Given the description of an element on the screen output the (x, y) to click on. 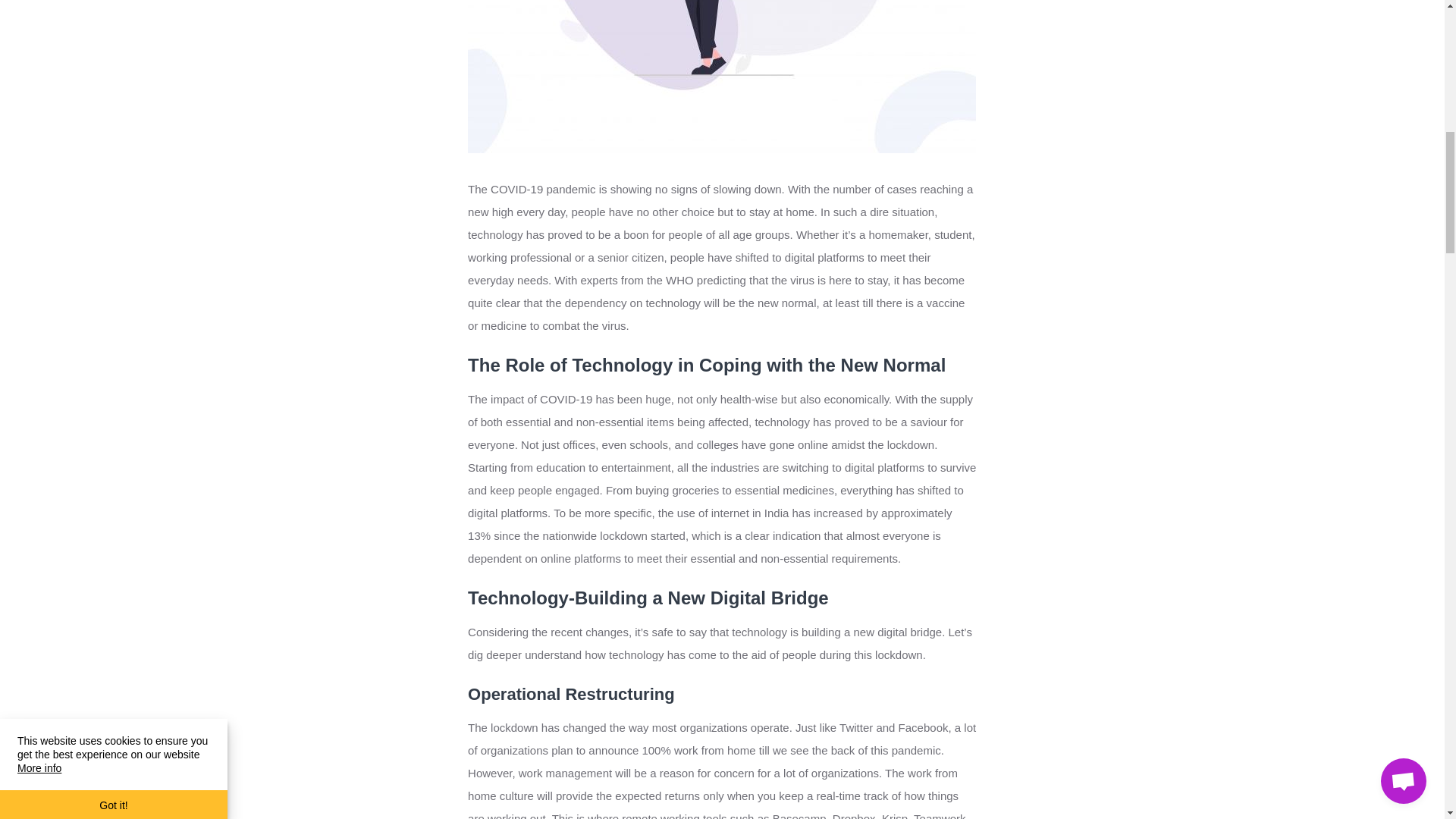
More info (39, 39)
